Given the description of an element on the screen output the (x, y) to click on. 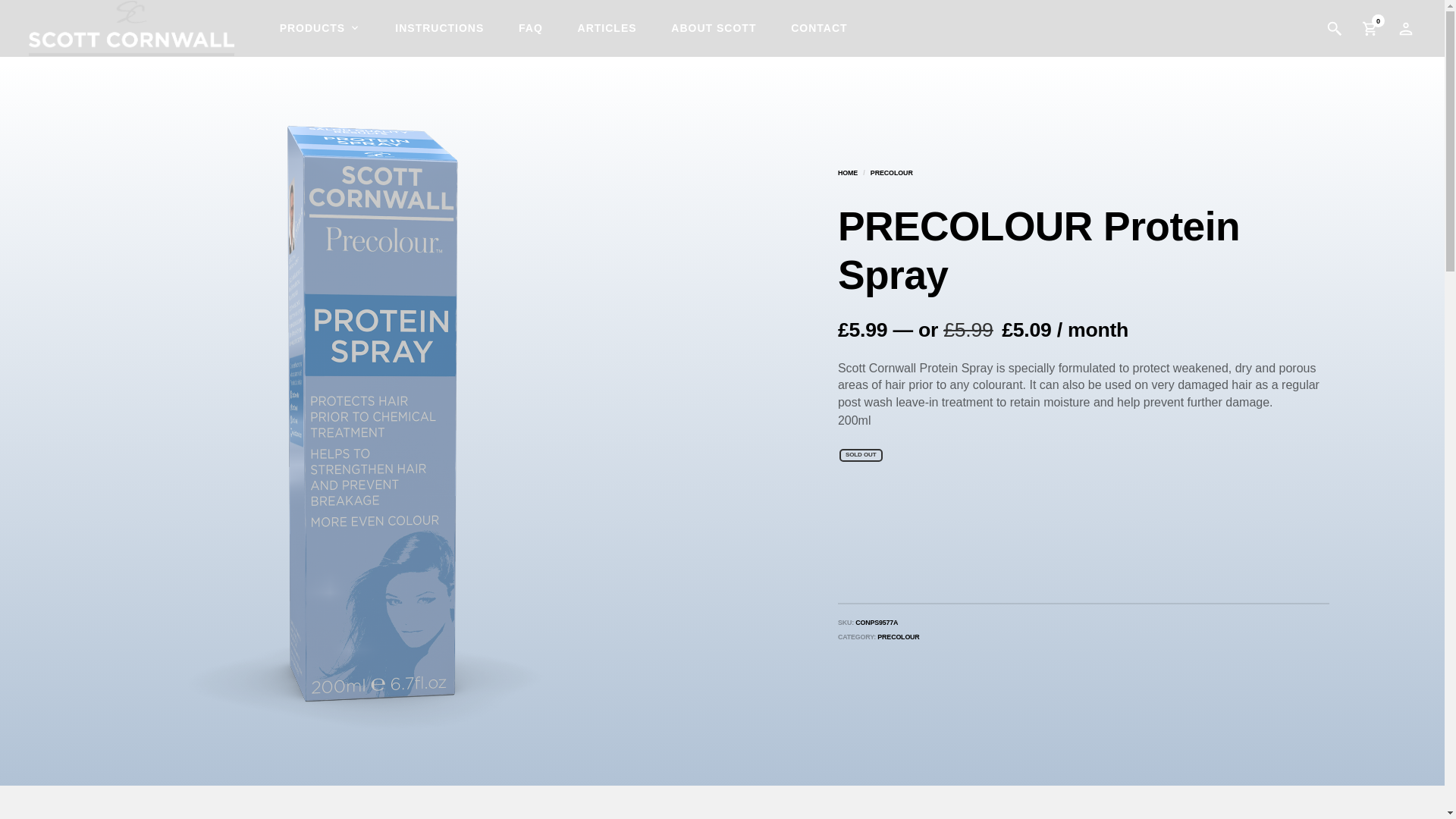
CONTACT (818, 27)
INSTRUCTIONS (439, 27)
FAQ (530, 27)
ABOUT SCOTT (714, 27)
ARTICLES (607, 27)
0 (1369, 28)
